Given the description of an element on the screen output the (x, y) to click on. 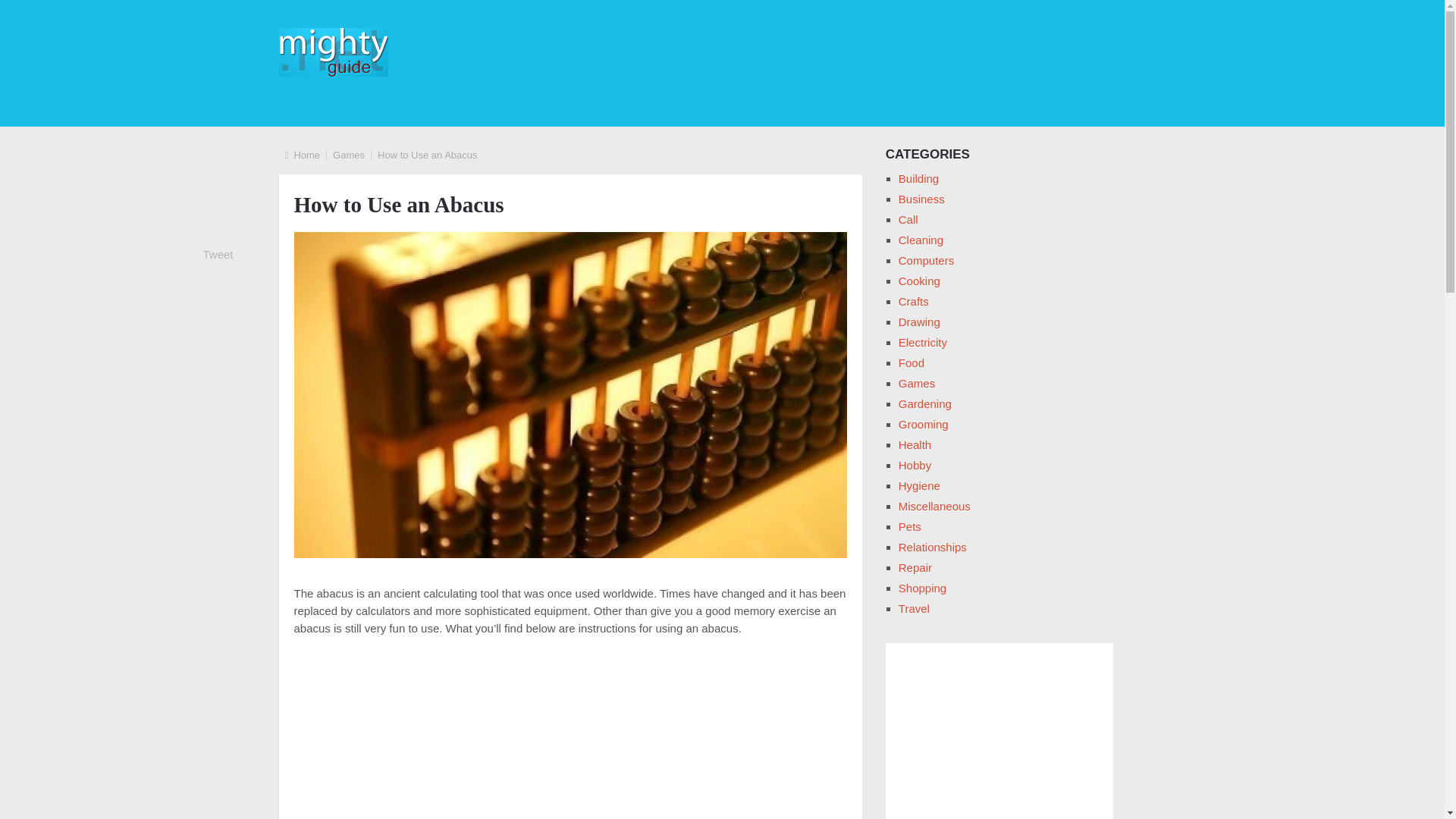
Hygiene (919, 485)
Gardening (925, 403)
Building (918, 178)
Advertisement (569, 735)
Pets (909, 526)
Electricity (922, 341)
Travel (914, 608)
Computers (925, 259)
Tweet (217, 254)
Home (307, 154)
Games (349, 154)
Crafts (913, 300)
Games (916, 382)
Call (908, 219)
Grooming (923, 423)
